Given the description of an element on the screen output the (x, y) to click on. 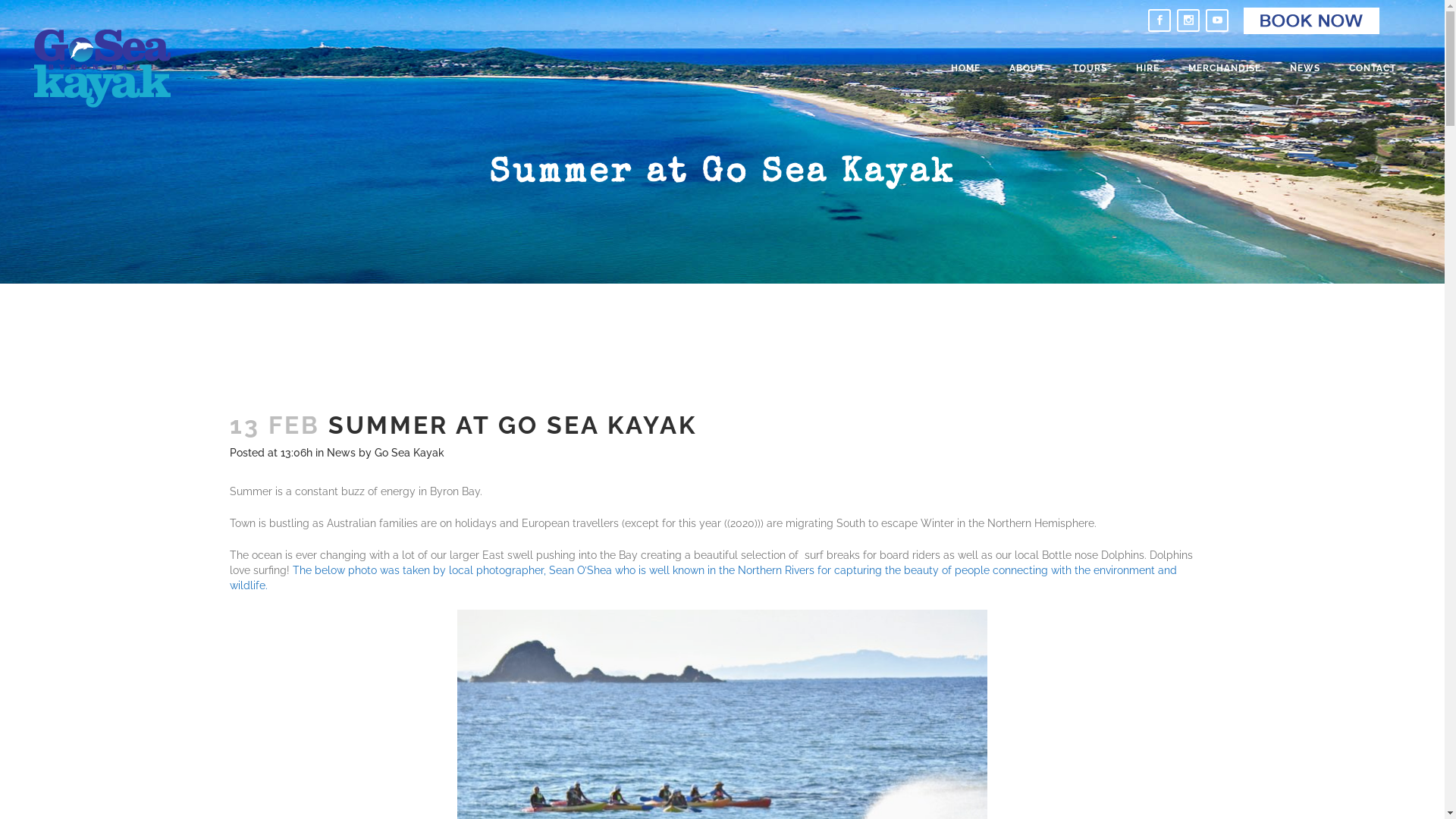
Go Sea Kayak Element type: text (409, 452)
NEWS Element type: text (1304, 68)
CONTACT Element type: text (1372, 68)
HIRE Element type: text (1147, 68)
MERCHANDISE Element type: text (1224, 68)
News Element type: text (340, 452)
ABOUT Element type: text (1026, 68)
TOURS Element type: text (1089, 68)
HOME Element type: text (965, 68)
